Given the description of an element on the screen output the (x, y) to click on. 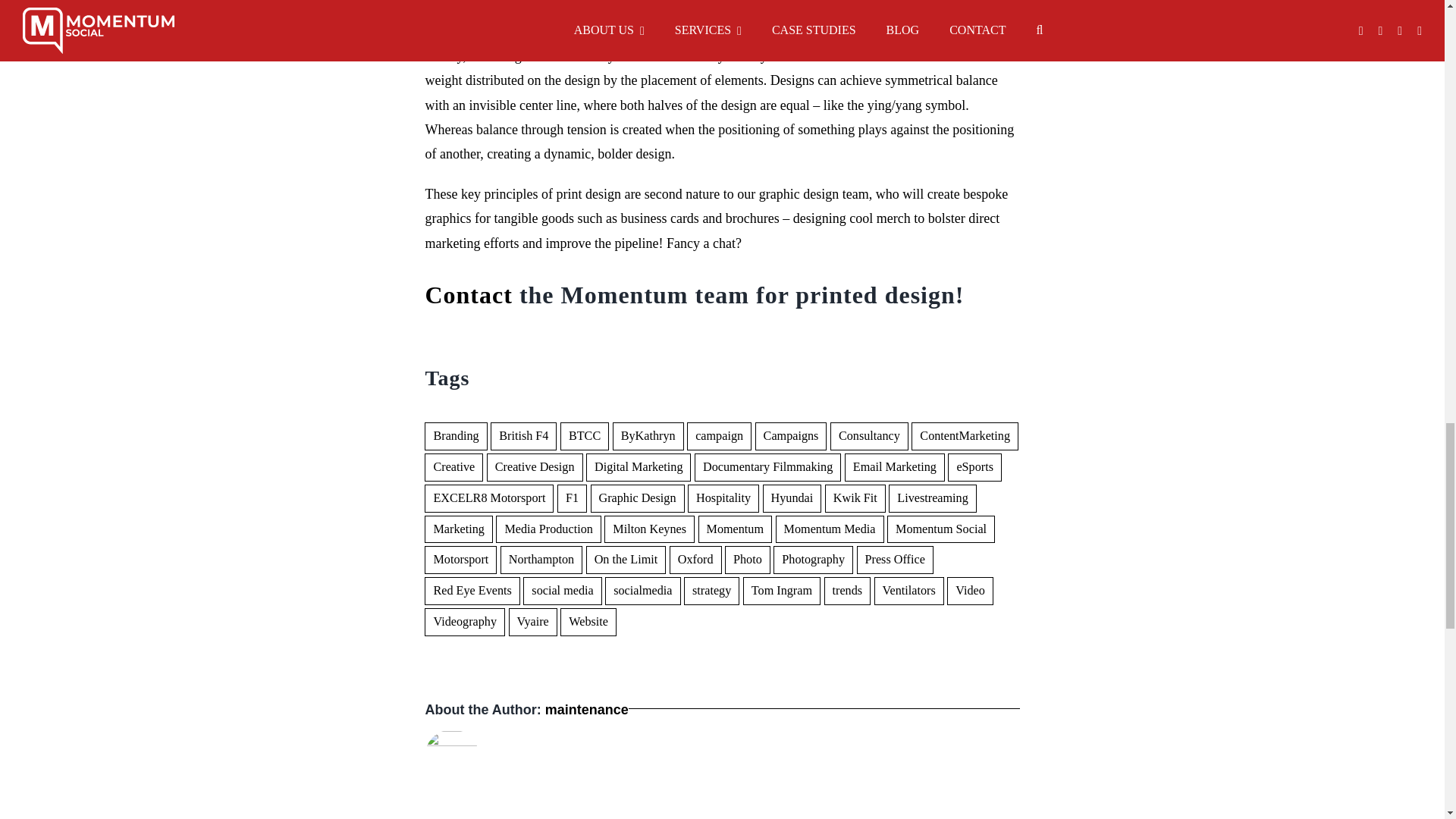
British F4 (523, 436)
Email Marketing (894, 467)
Digital Marketing (638, 467)
Consultancy (868, 436)
campaign (719, 436)
Contact (468, 294)
Campaigns (791, 436)
eSports (974, 467)
BTCC (584, 436)
Creative (454, 467)
Branding (455, 436)
ContentMarketing (964, 436)
Documentary Filmmaking (767, 467)
ByKathryn (648, 436)
Creative Design (534, 467)
